Given the description of an element on the screen output the (x, y) to click on. 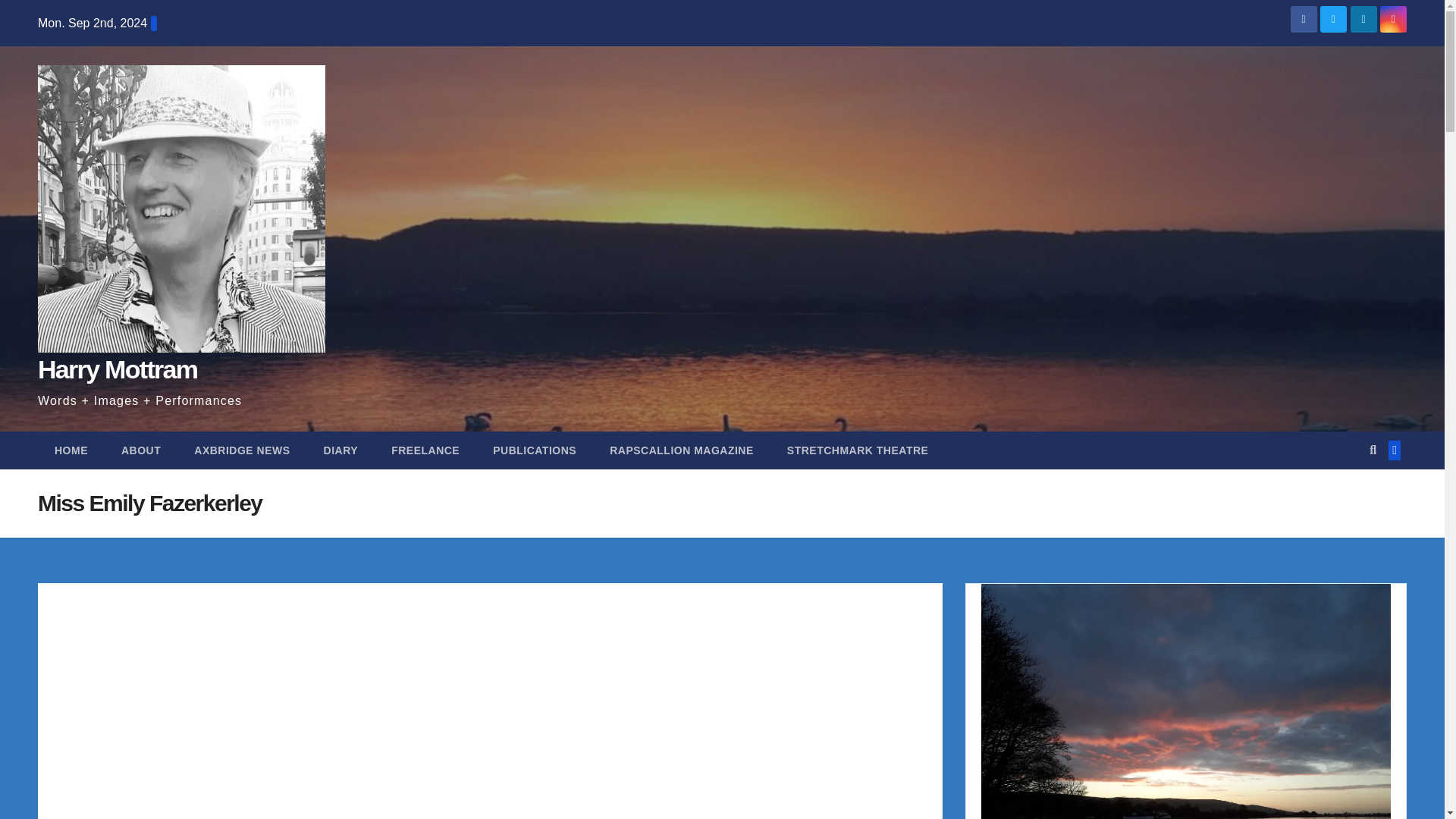
HOME (70, 450)
ABOUT (140, 450)
Harry Mottram (116, 369)
Home (70, 450)
FREELANCE (425, 450)
DIARY (341, 450)
AXBRIDGE NEWS (241, 450)
